Given the description of an element on the screen output the (x, y) to click on. 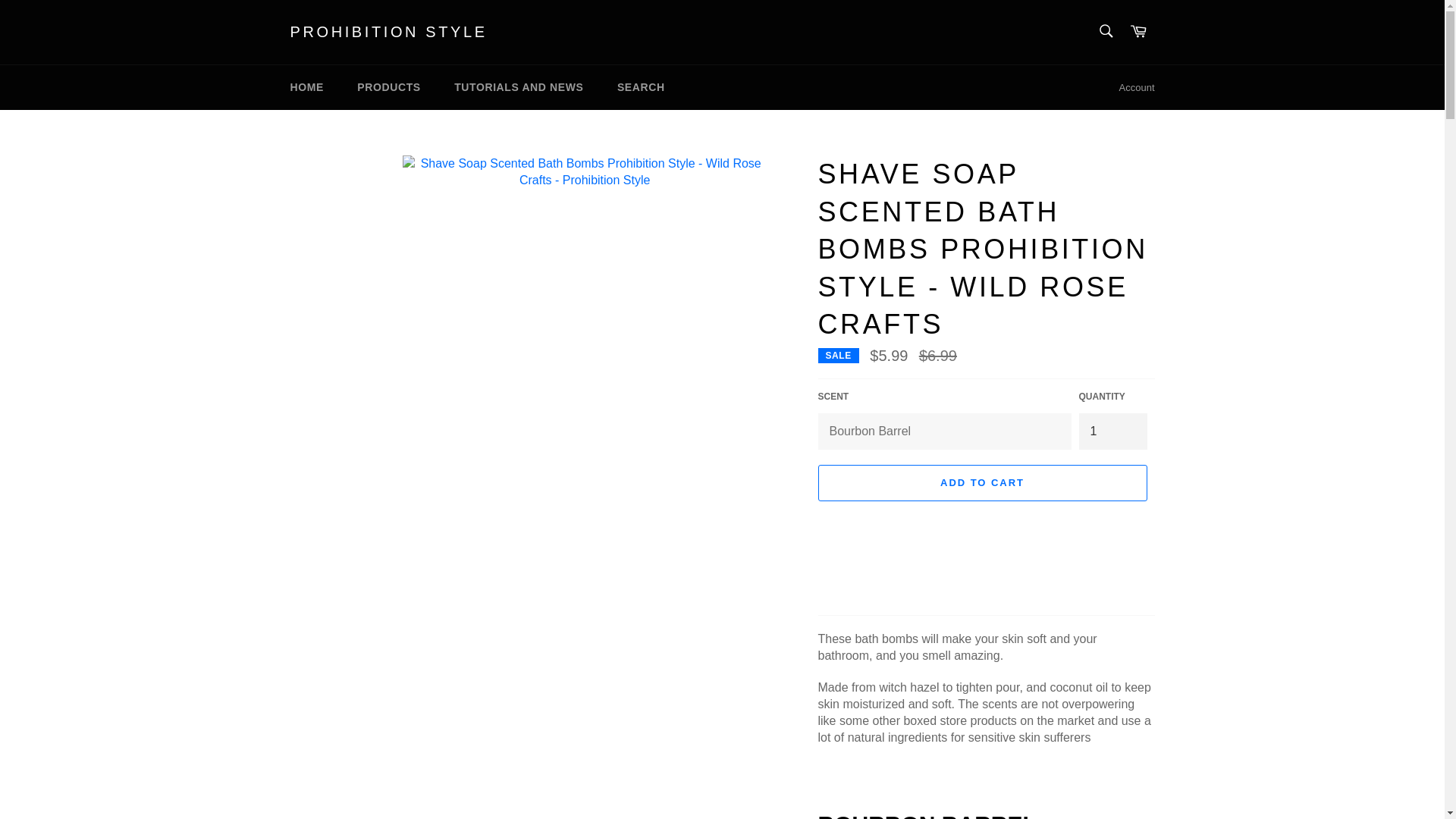
1 (1112, 431)
SEARCH (640, 87)
HOME (306, 87)
Account (1136, 87)
TUTORIALS AND NEWS (518, 87)
Search (1104, 30)
PROHIBITION STYLE (387, 32)
PRODUCTS (388, 87)
Cart (1138, 32)
